Given the description of an element on the screen output the (x, y) to click on. 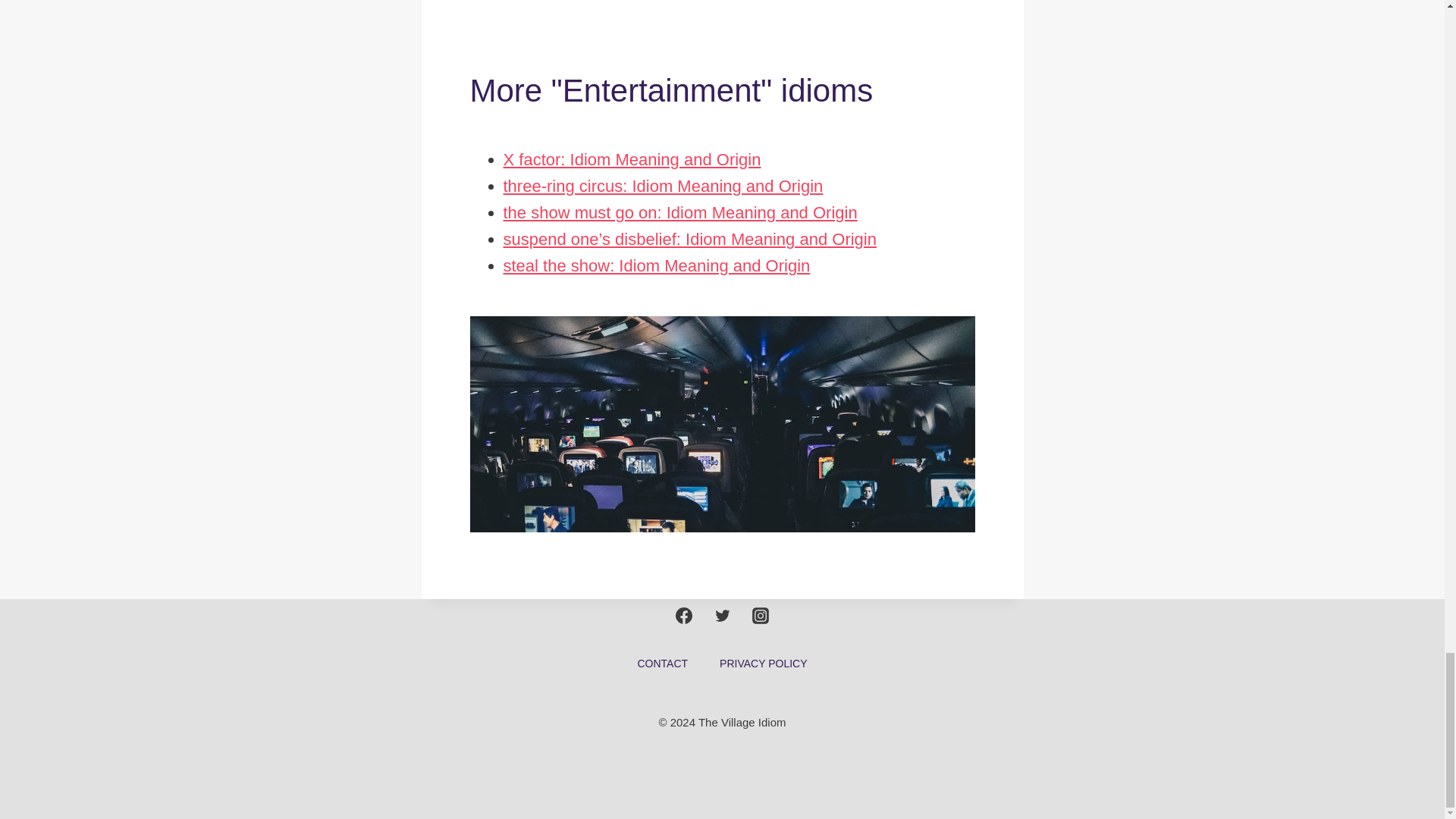
X factor: Idiom Meaning and Origin (632, 158)
the show must go on: Idiom Meaning and Origin (680, 212)
three-ring circus: Idiom Meaning and Origin (663, 185)
